Given the description of an element on the screen output the (x, y) to click on. 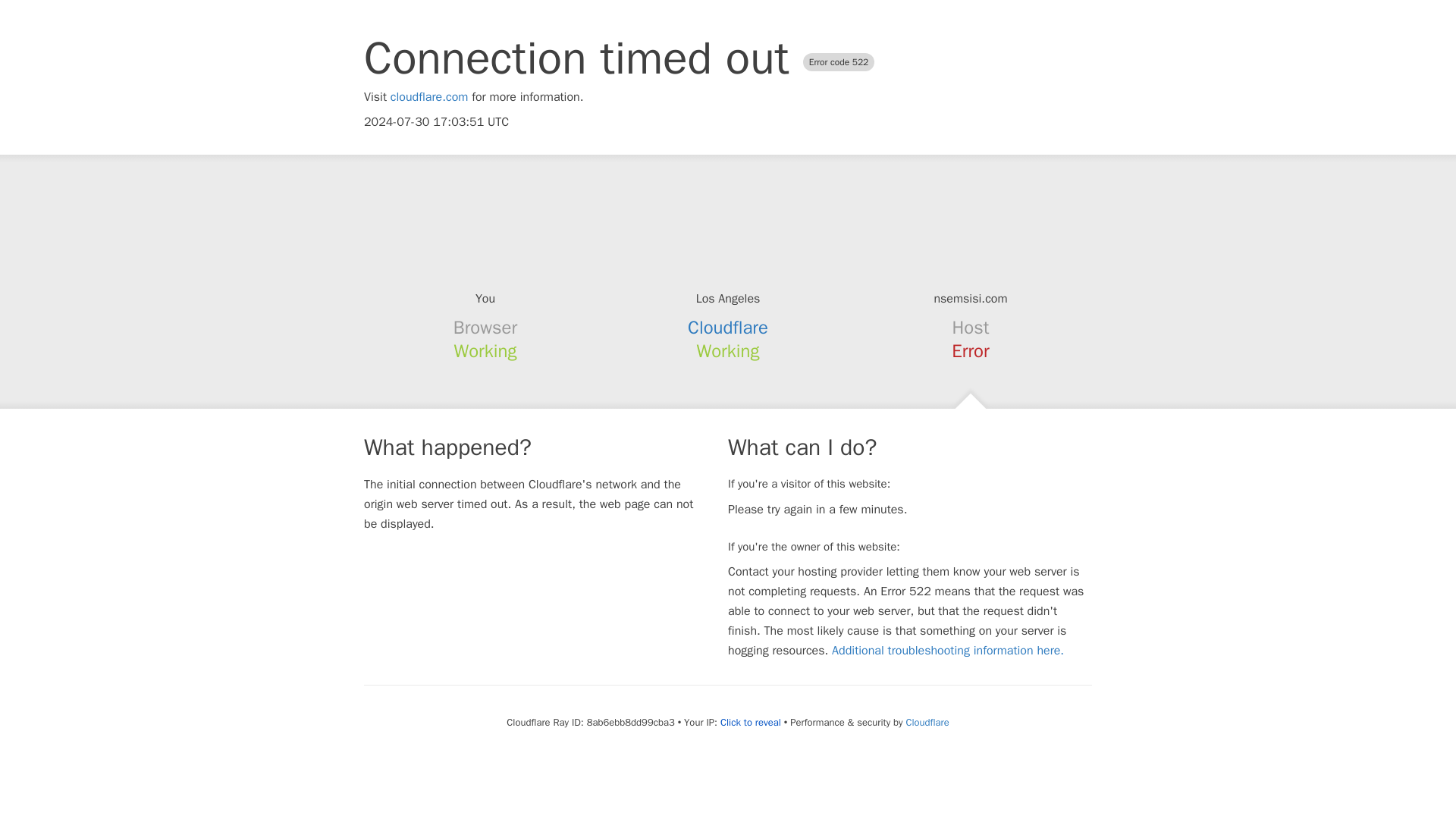
Cloudflare (927, 721)
Click to reveal (750, 722)
Additional troubleshooting information here. (947, 650)
cloudflare.com (429, 96)
Cloudflare (727, 327)
